Given the description of an element on the screen output the (x, y) to click on. 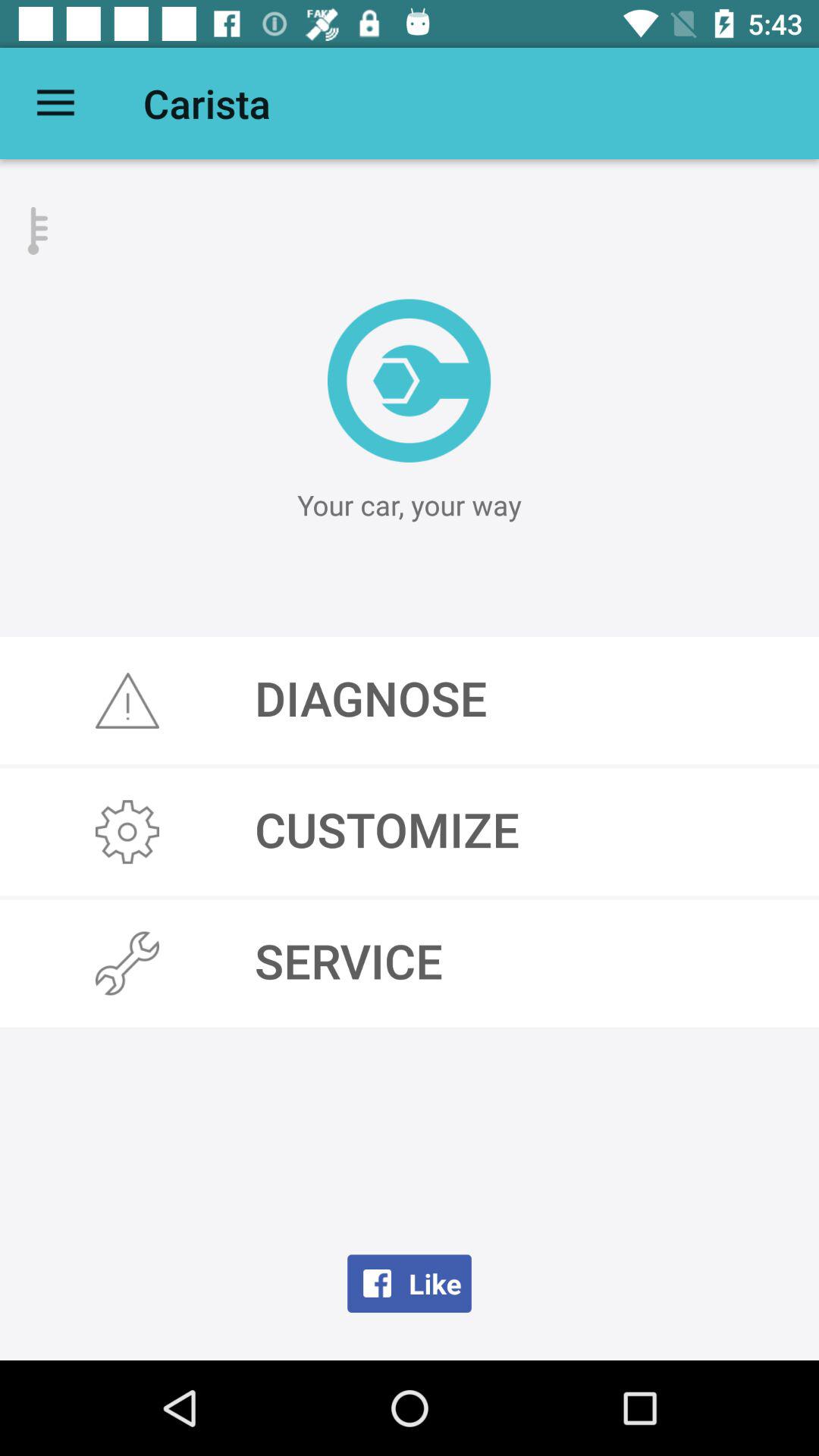
choose the icon above the customize icon (409, 700)
